Given the description of an element on the screen output the (x, y) to click on. 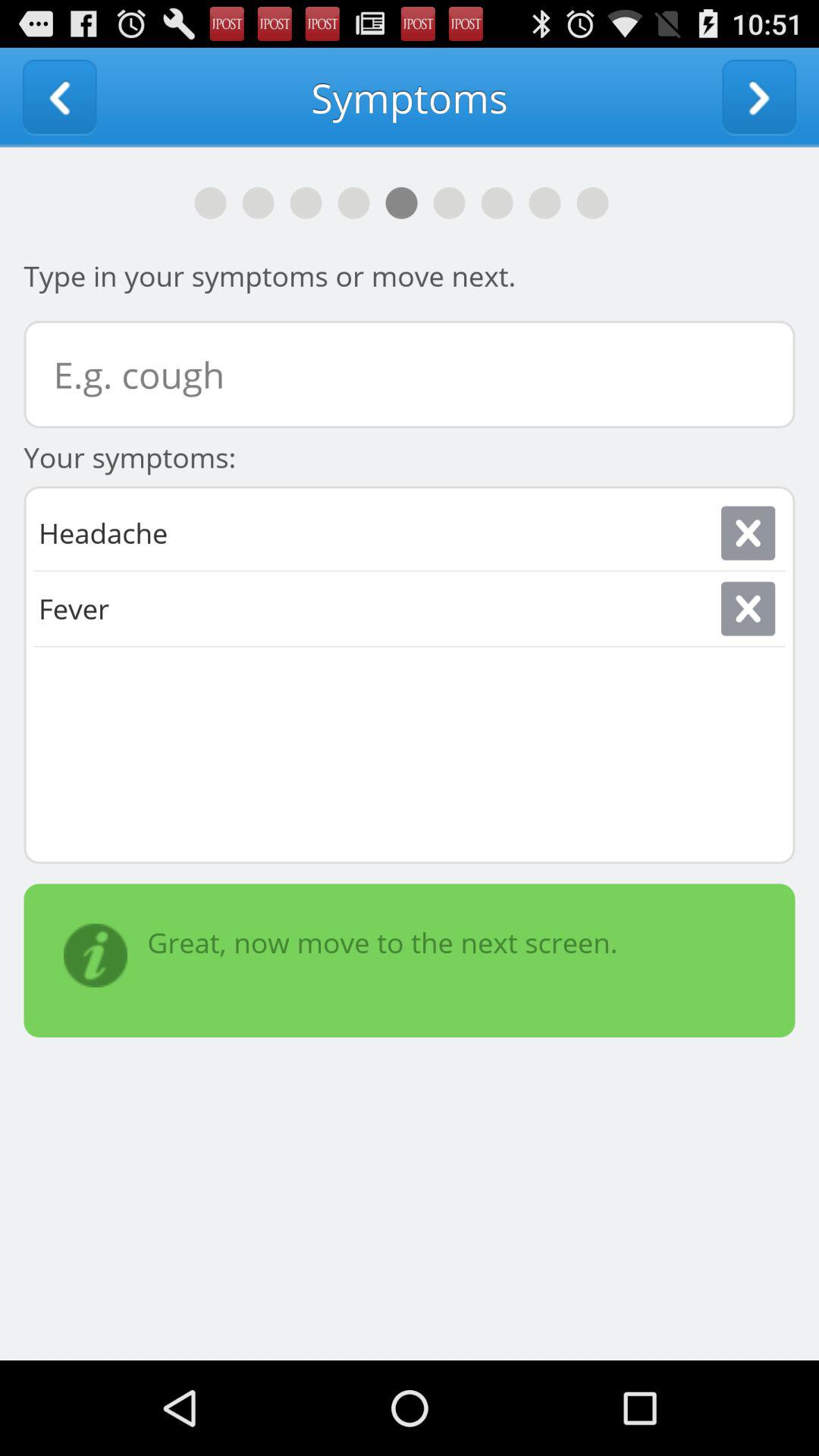
next option (759, 97)
